Given the description of an element on the screen output the (x, y) to click on. 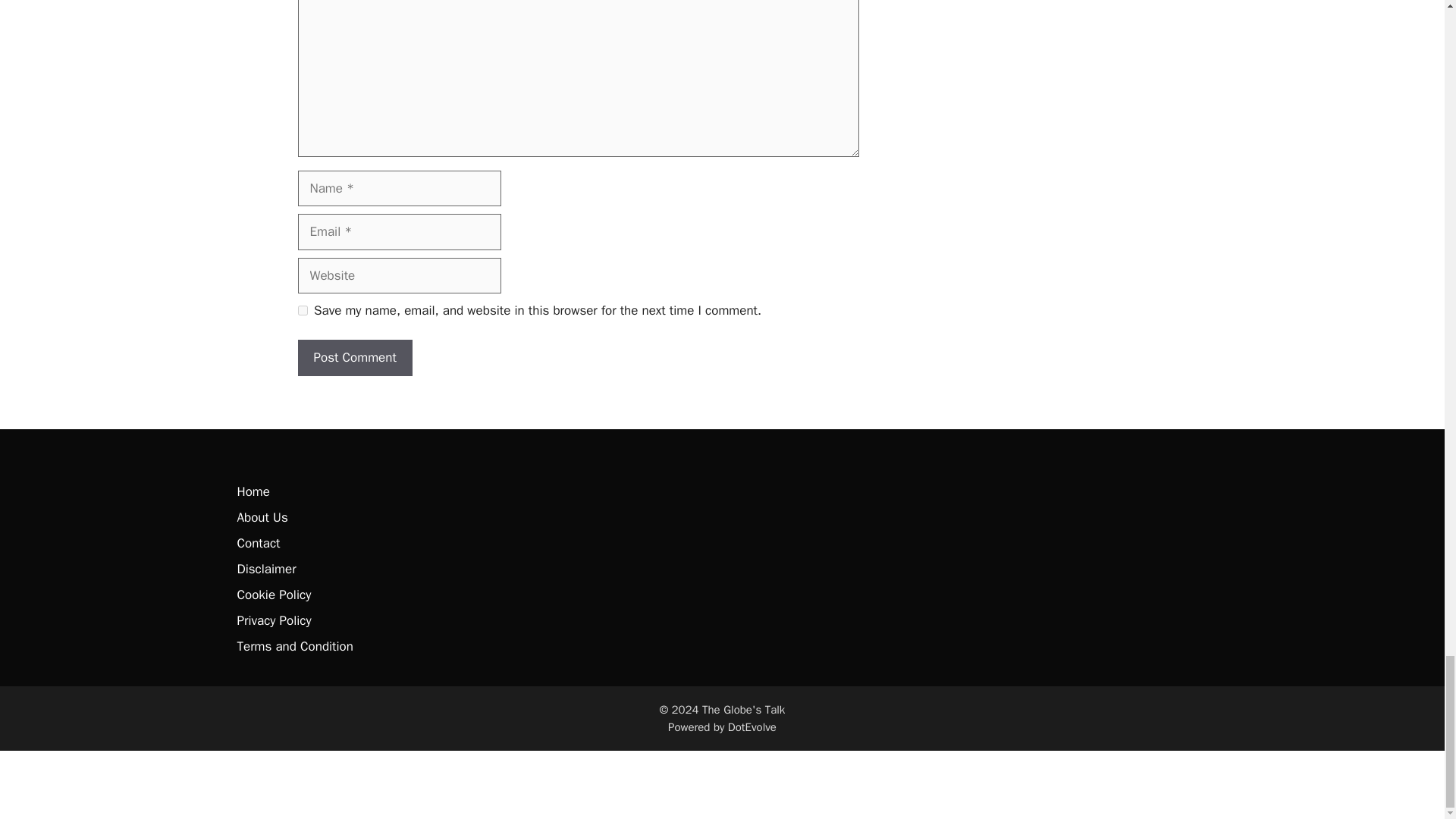
Contact (257, 543)
Disclaimer (265, 569)
Post Comment (354, 357)
About Us (260, 517)
yes (302, 310)
DotEvolve (752, 726)
Post Comment (354, 357)
Cookie Policy (273, 594)
Privacy Policy (273, 620)
Home (252, 491)
Terms and Condition (293, 646)
